Given the description of an element on the screen output the (x, y) to click on. 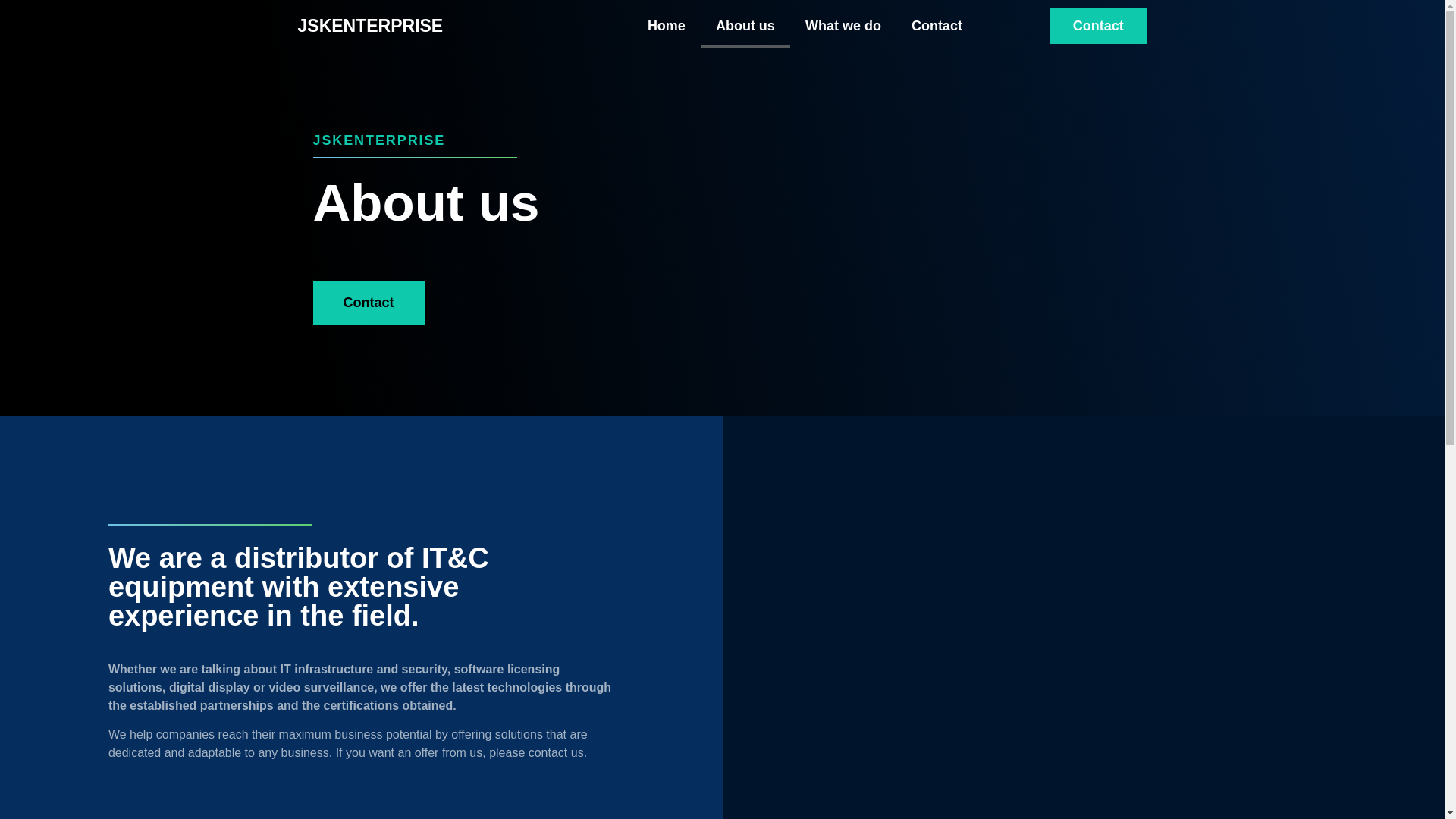
Contact (1098, 25)
Home (665, 26)
About us (745, 26)
JSKENTERPRISE (369, 25)
What we do (843, 26)
Contact (804, 26)
Contact (936, 26)
